Given the description of an element on the screen output the (x, y) to click on. 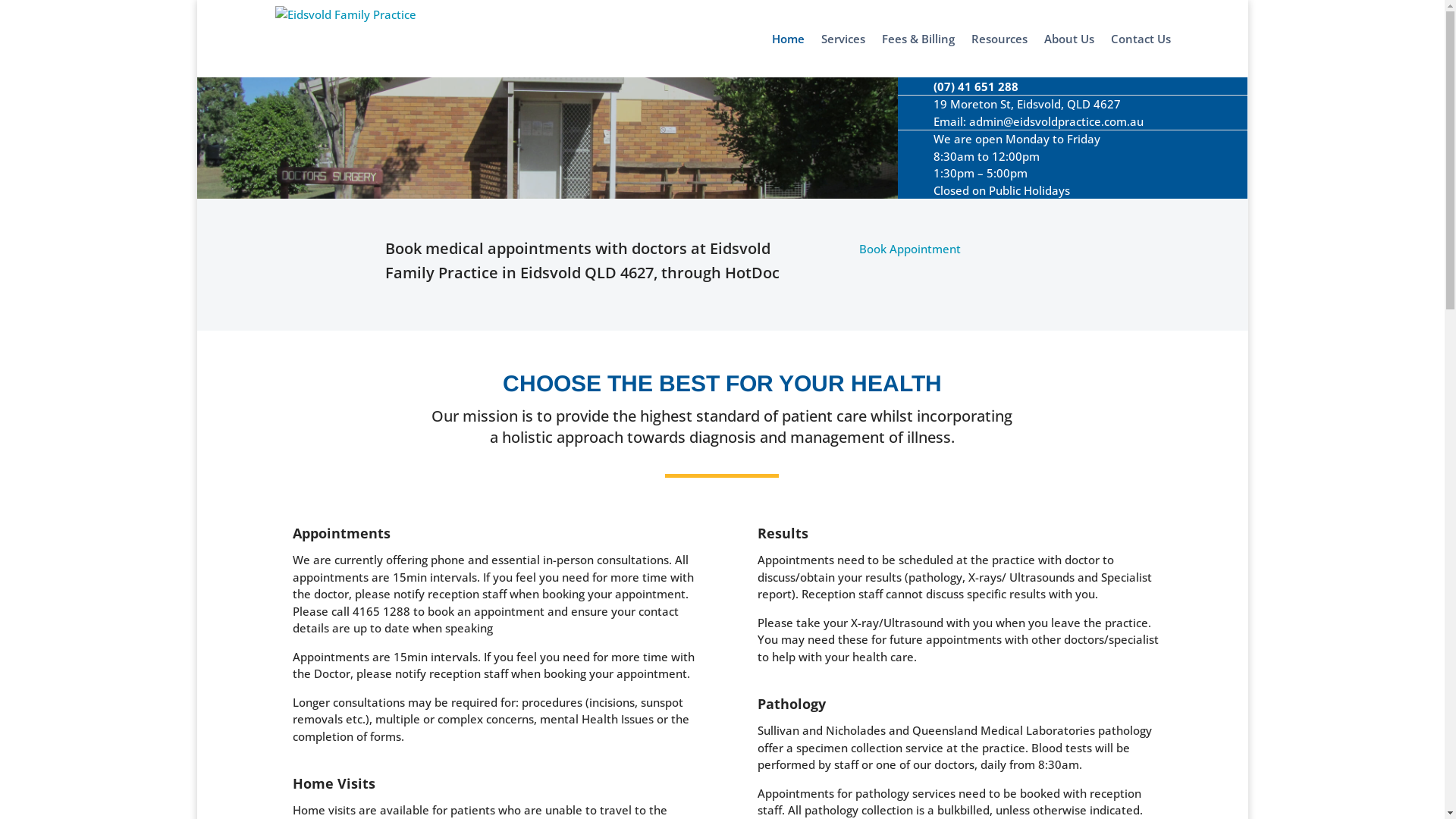
Book Appointment Element type: text (909, 248)
Home Element type: text (787, 55)
Fees & Billing Element type: text (917, 55)
Services Element type: text (843, 55)
About Us Element type: text (1069, 55)
Resources Element type: text (999, 55)
Contact Us Element type: text (1140, 55)
